Given the description of an element on the screen output the (x, y) to click on. 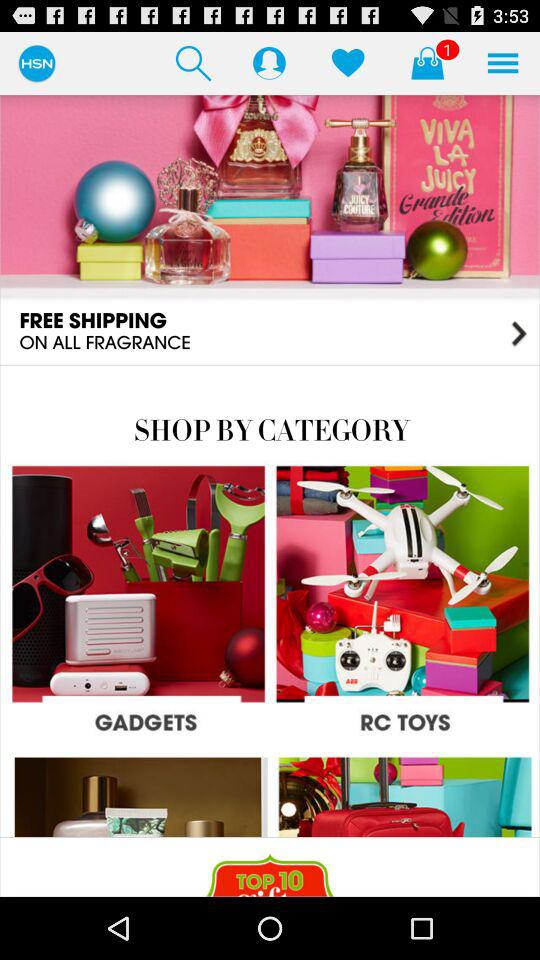
this option like button (348, 62)
